Given the description of an element on the screen output the (x, y) to click on. 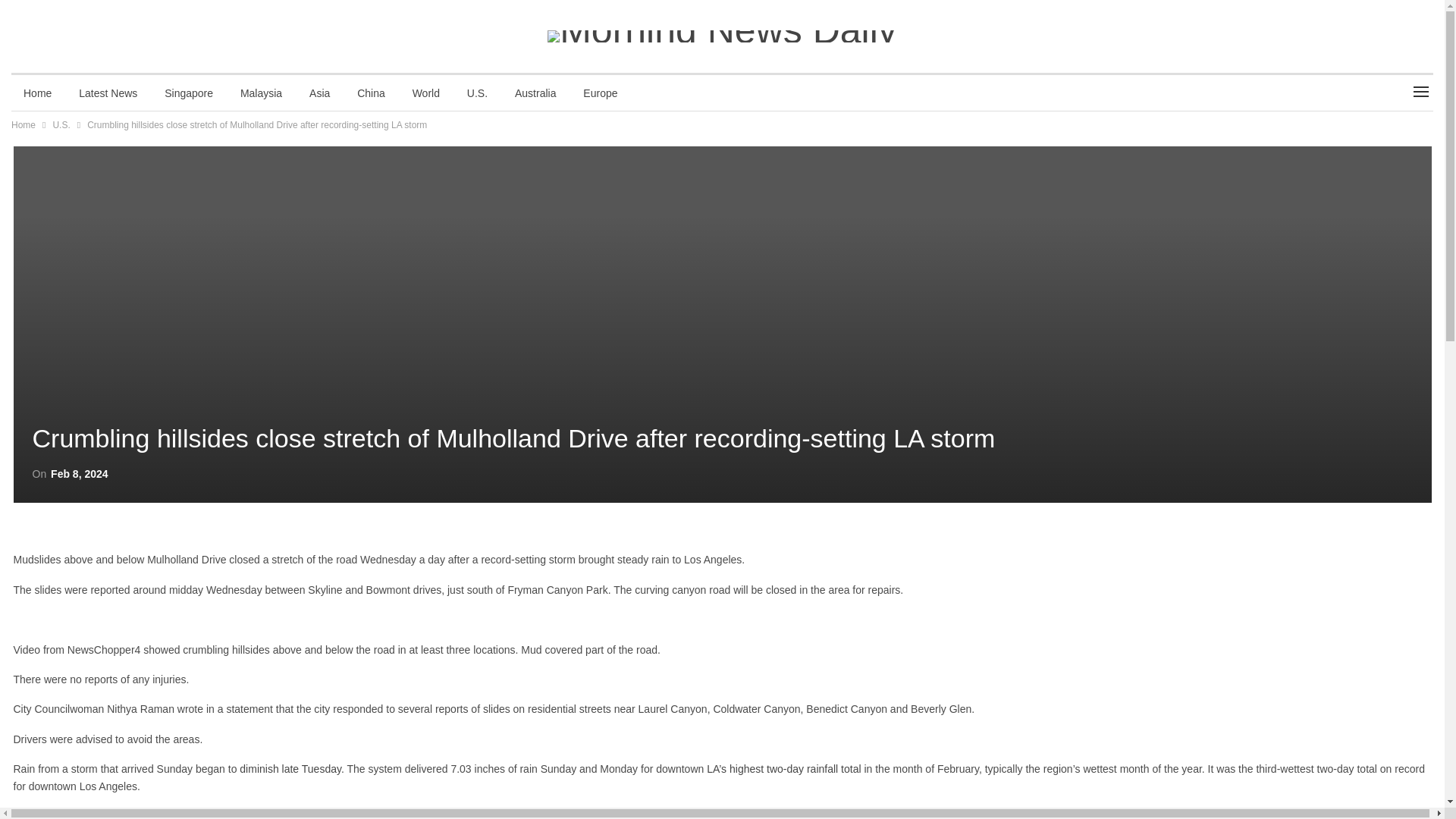
China (371, 93)
Latest News (107, 93)
World (425, 93)
Home (22, 125)
Australia (534, 93)
U.S. (60, 125)
Flood watches are in effect Wednesday (106, 814)
Home (37, 93)
Malaysia (261, 93)
U.S. (476, 93)
Asia (319, 93)
U.S. (37, 405)
Europe (599, 93)
Singapore (188, 93)
